Given the description of an element on the screen output the (x, y) to click on. 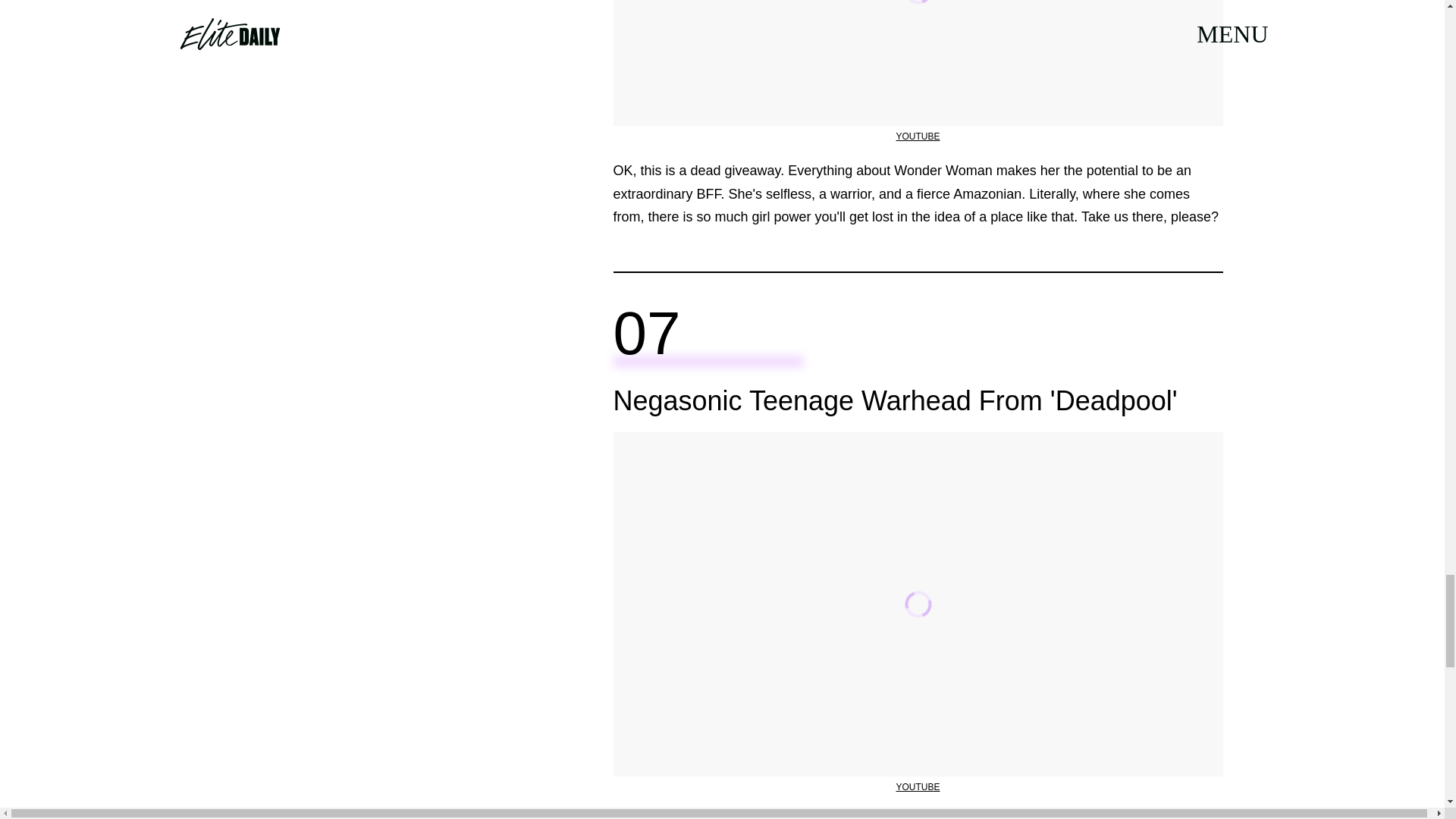
YOUTUBE (917, 787)
YOUTUBE (917, 136)
